Given the description of an element on the screen output the (x, y) to click on. 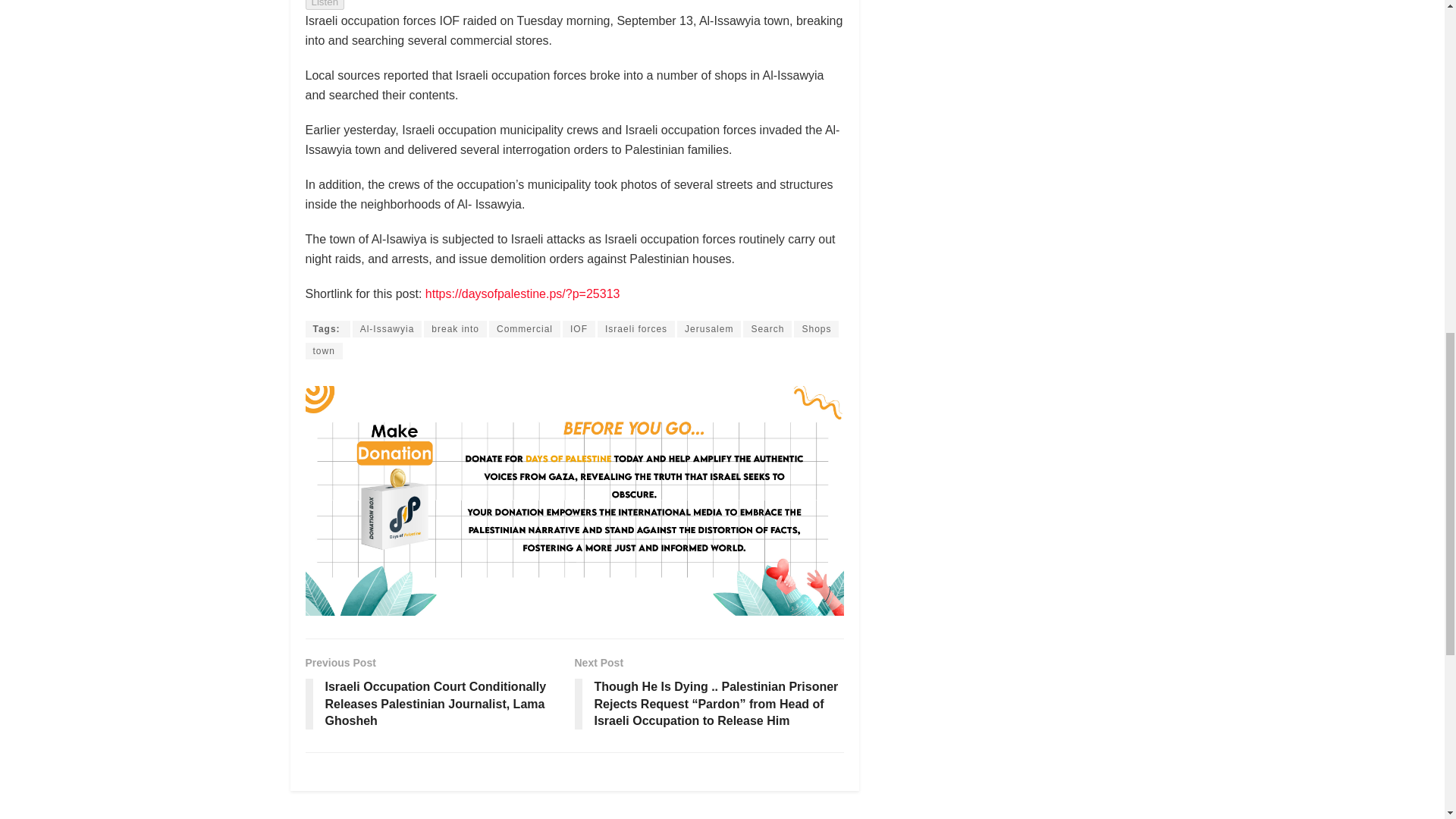
IOF Break into Al-Issawyia town, Search Commercial Stores (522, 293)
IOF Break into Al-Issawyia town, Search Commercial Stores (326, 329)
